Given the description of an element on the screen output the (x, y) to click on. 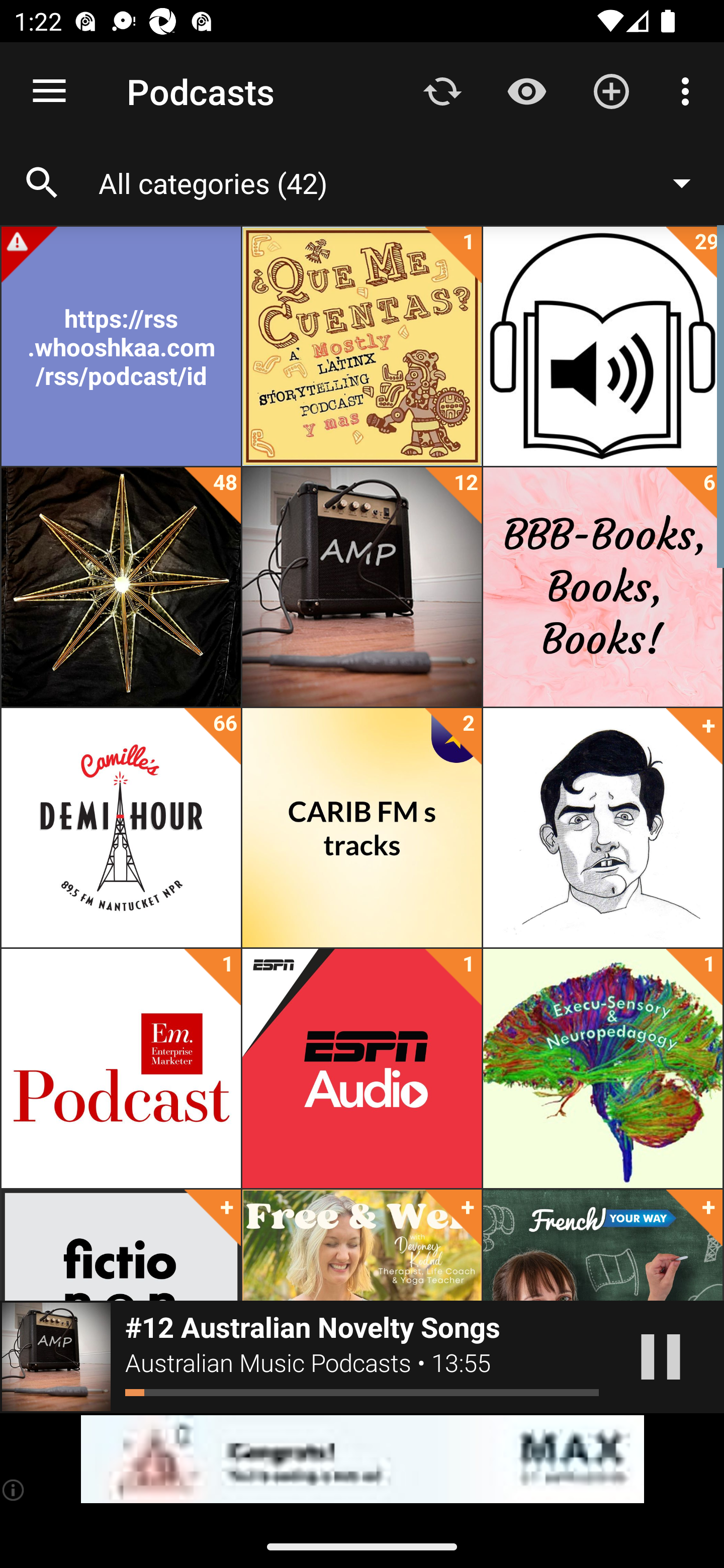
Open navigation sidebar (49, 91)
Update (442, 90)
Show / Hide played content (526, 90)
Add new Podcast (611, 90)
More options (688, 90)
Search (42, 183)
All categories (42) (404, 182)
https://rss.whooshkaa.com/rss/podcast/id/5884 (121, 346)
¿Qué Me Cuentas?: Latinx Storytelling 1 (361, 346)
Audiobooks 29 (602, 346)
Audiobooks 48 (121, 587)
Australian Music Podcasts 12 (361, 587)
BBB-Books, Books, Books! 6 (602, 587)
Camille's Demi-Hour - NANTUCKET NPR 66 (121, 827)
CARIB FM's tracks 2 (361, 827)
Cooking Issues with Dave Arnold + (602, 827)
Enterprise Marketer Podcast - Conference 1 (121, 1068)
ESPN Audio 1 (361, 1068)
Play / Pause (660, 1356)
app-monetization (362, 1459)
(i) (14, 1489)
